Given the description of an element on the screen output the (x, y) to click on. 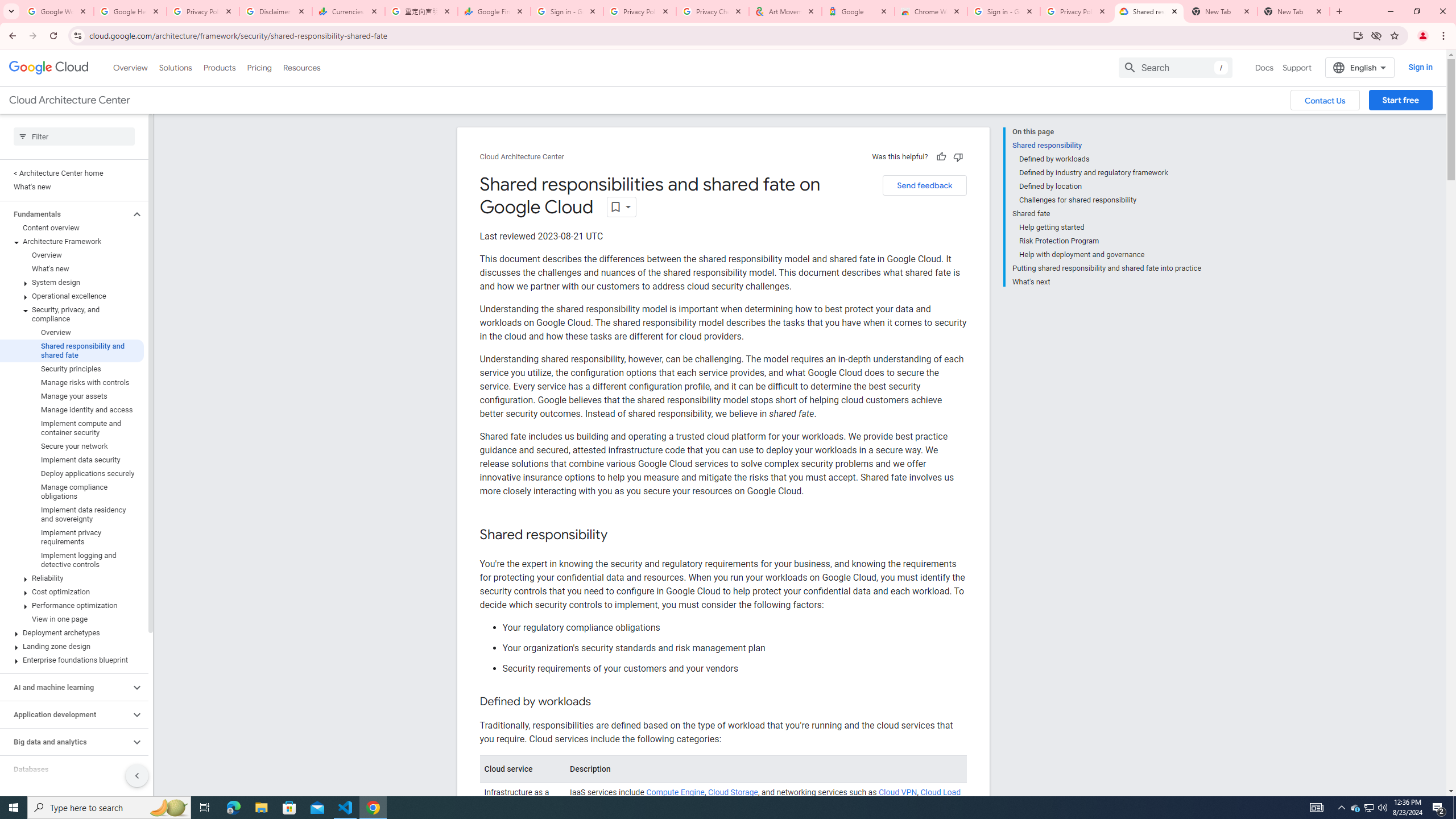
Databases (64, 769)
Copy link to this section: Defined by workloads (600, 702)
Shared fate (1106, 213)
Cloud Architecture Center (521, 156)
Content overview (72, 228)
